Given the description of an element on the screen output the (x, y) to click on. 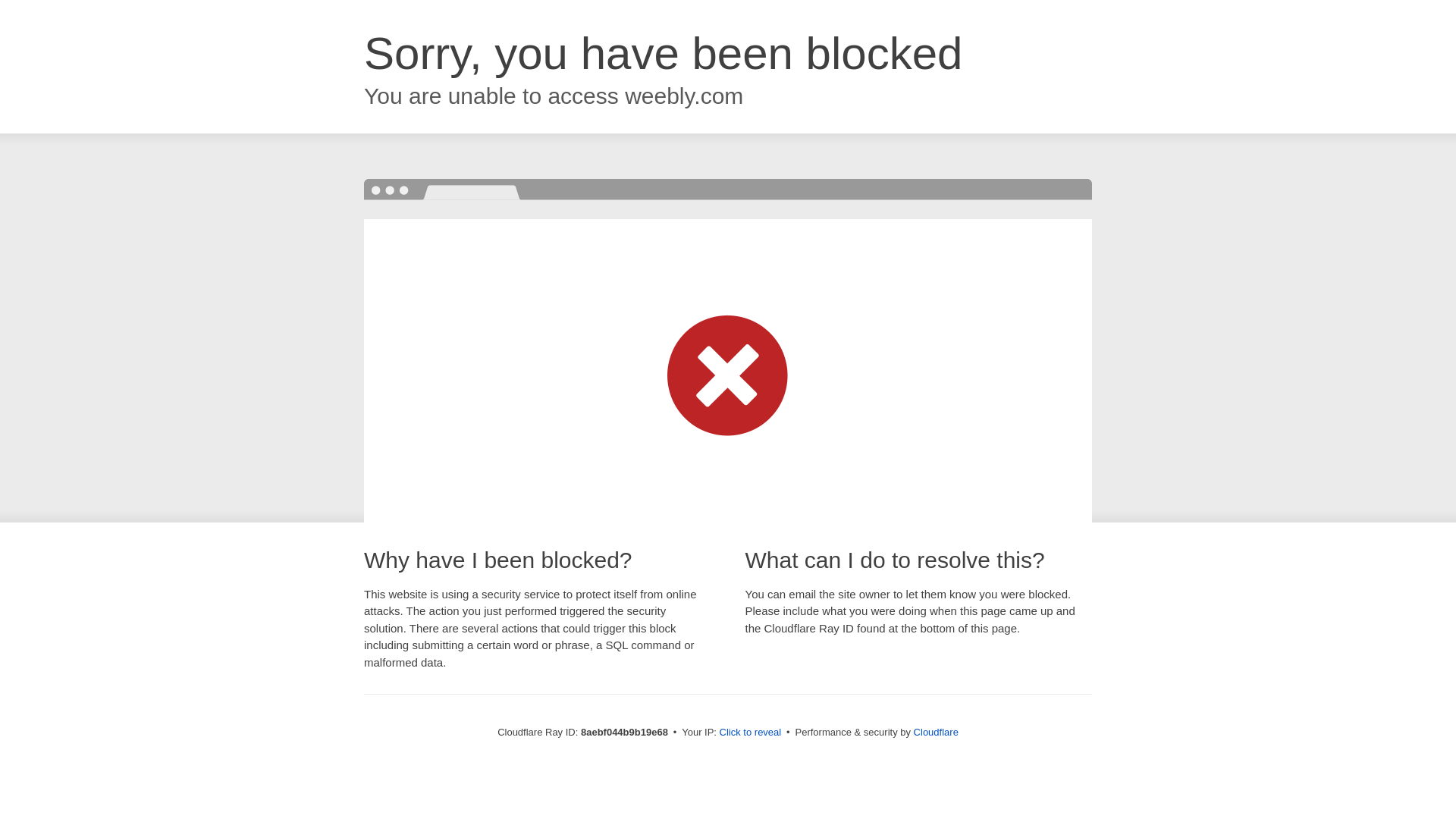
Click to reveal (750, 732)
Cloudflare (936, 731)
